Given the description of an element on the screen output the (x, y) to click on. 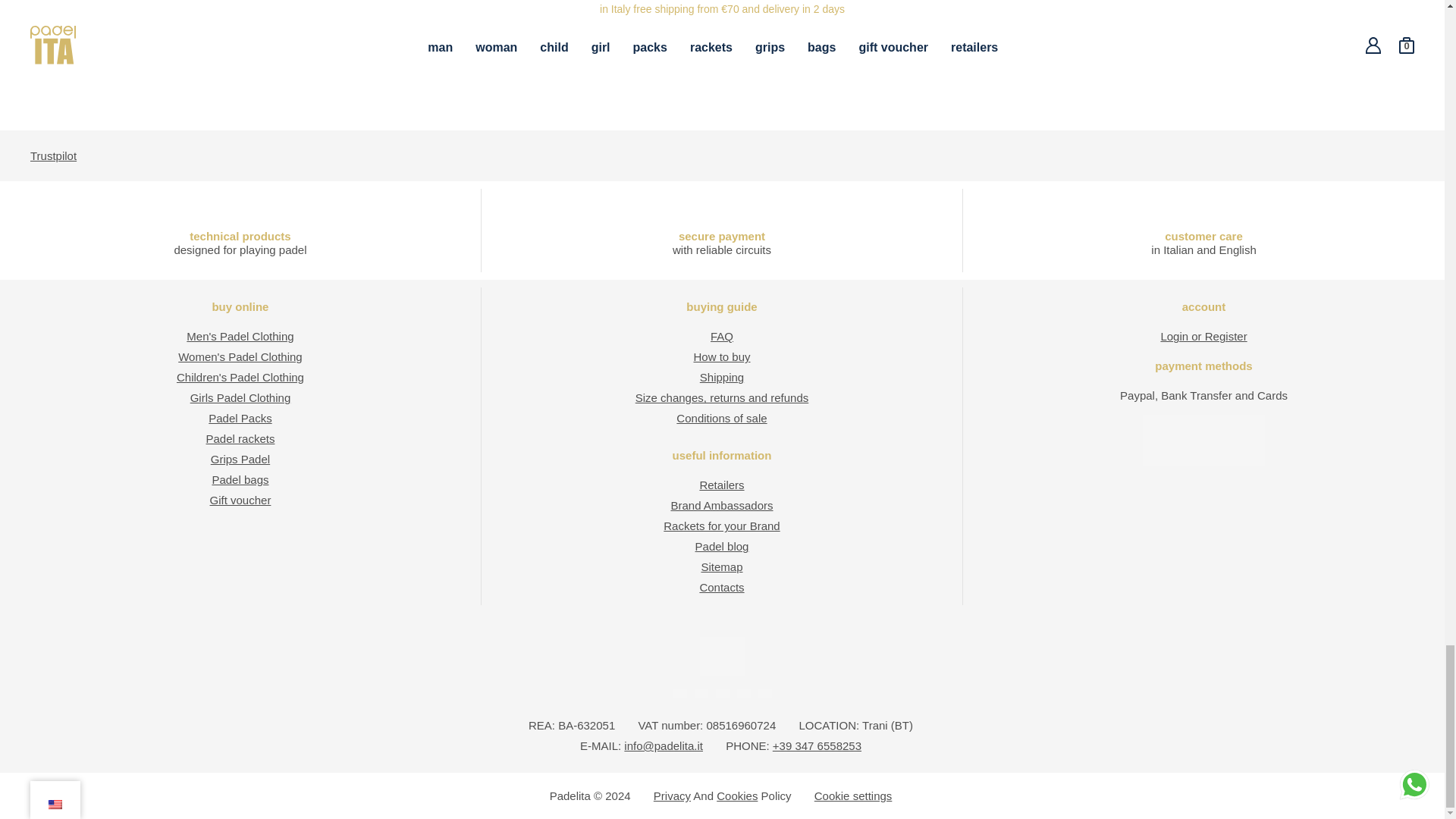
Girls Padel Clothing (240, 397)
Gift voucher (239, 499)
FAQ (721, 336)
Men's padel clothing (240, 336)
Padel rackets (240, 438)
Children's Padel Clothing (240, 377)
Grips Padel (240, 459)
Men's Padel Clothing (240, 336)
How to buy (721, 356)
Women's padel clothing (239, 356)
Trustpilot (53, 155)
Padel bags (239, 479)
Women's Padel Clothing (239, 356)
Padel Packs (239, 418)
